Given the description of an element on the screen output the (x, y) to click on. 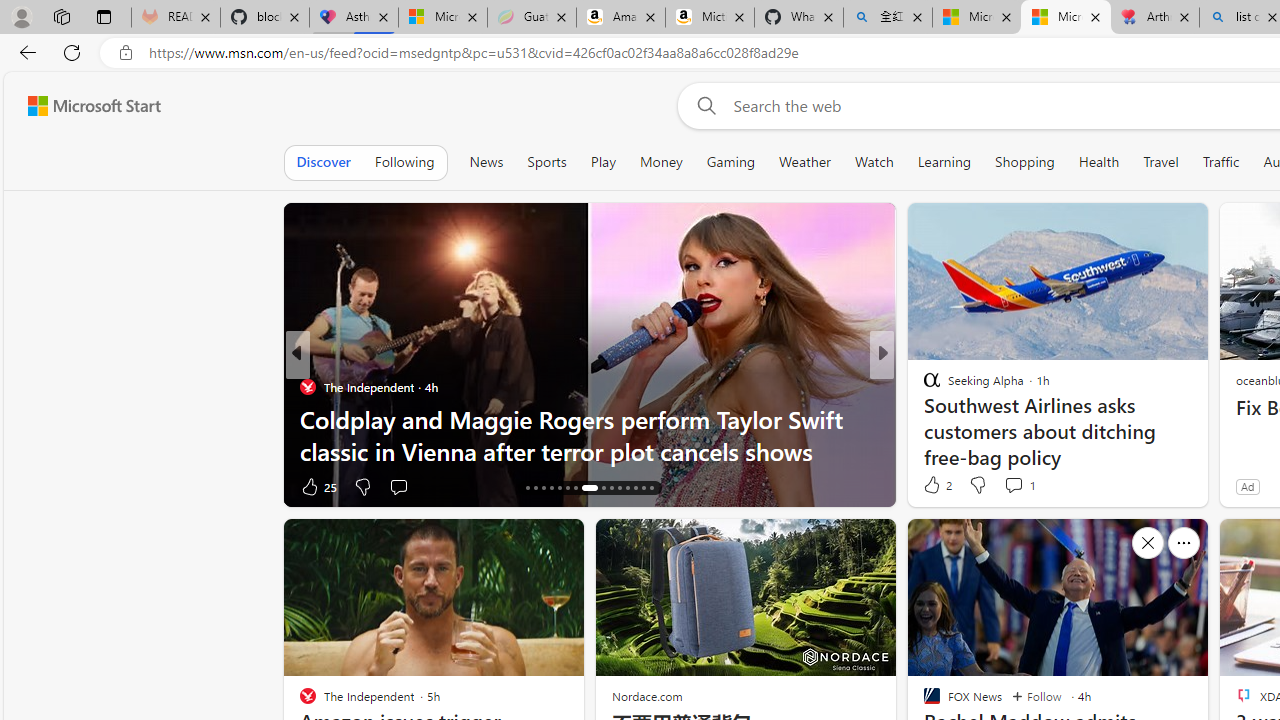
AutomationID: tab-30 (650, 487)
View comments 20 Comment (1029, 486)
310 Like (936, 486)
SB Nation (923, 386)
Ad Choice (264, 486)
AutomationID: tab-23 (585, 487)
Following (404, 161)
Play (603, 162)
Microsoft-Report a Concern to Bing (443, 17)
AutomationID: tab-26 (619, 487)
